Given the description of an element on the screen output the (x, y) to click on. 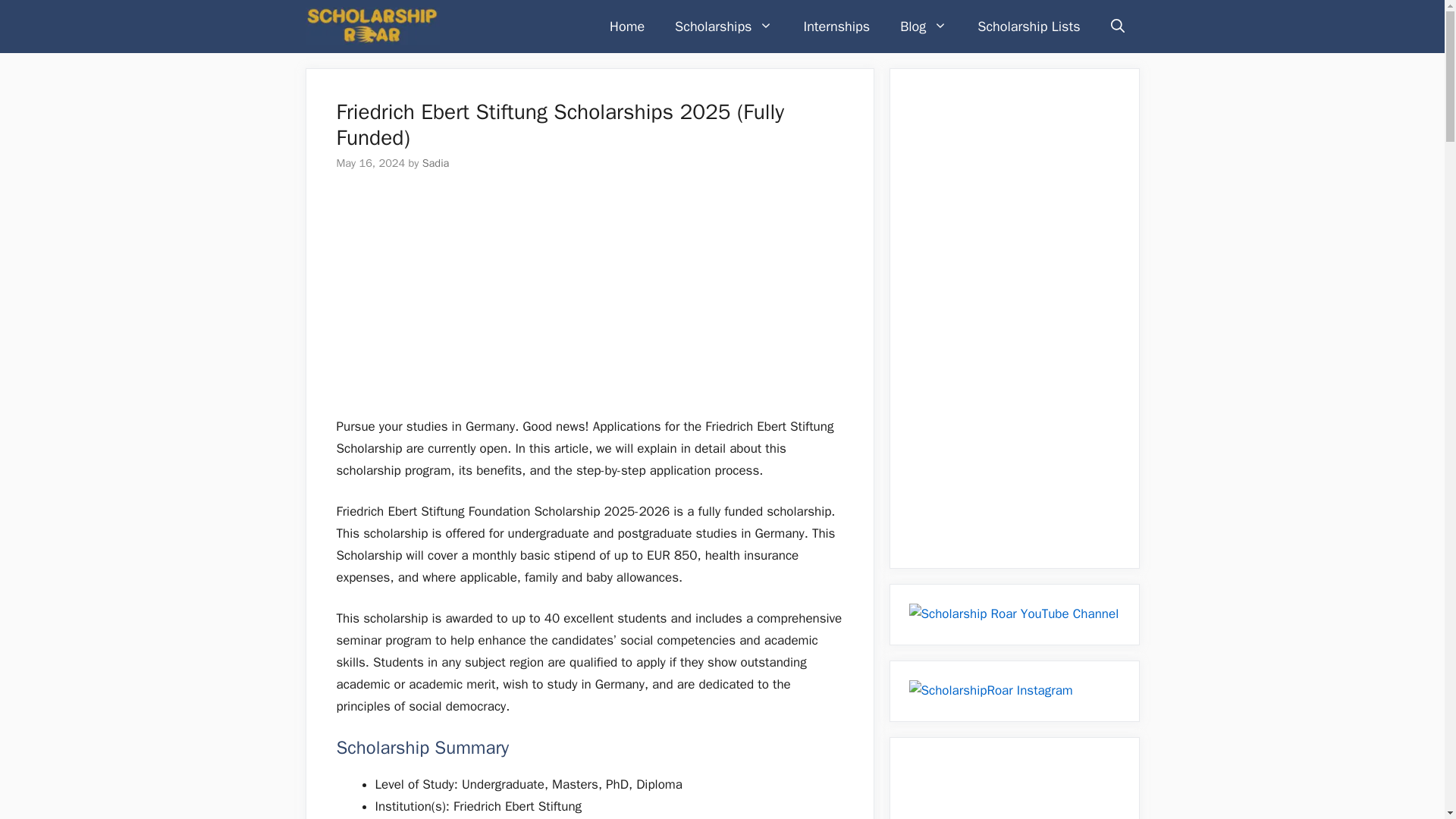
Home (626, 26)
Scholarship Roar (371, 26)
View all posts by Sadia (435, 162)
Sadia (435, 162)
Blog (923, 26)
Scholarships (723, 26)
Internships (836, 26)
Scholarship Lists (1028, 26)
